Given the description of an element on the screen output the (x, y) to click on. 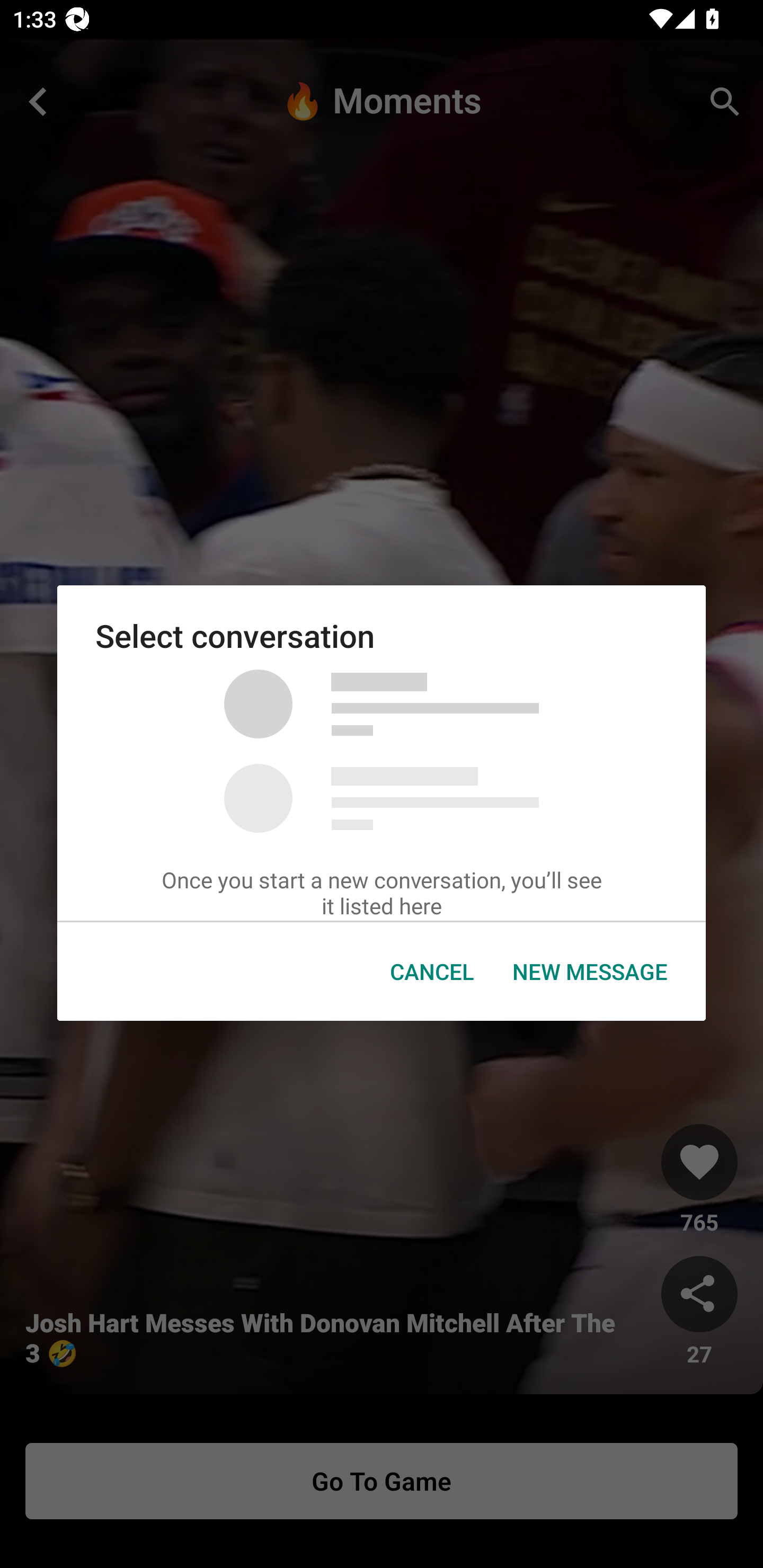
CANCEL (431, 971)
NEW MESSAGE (589, 971)
